Given the description of an element on the screen output the (x, y) to click on. 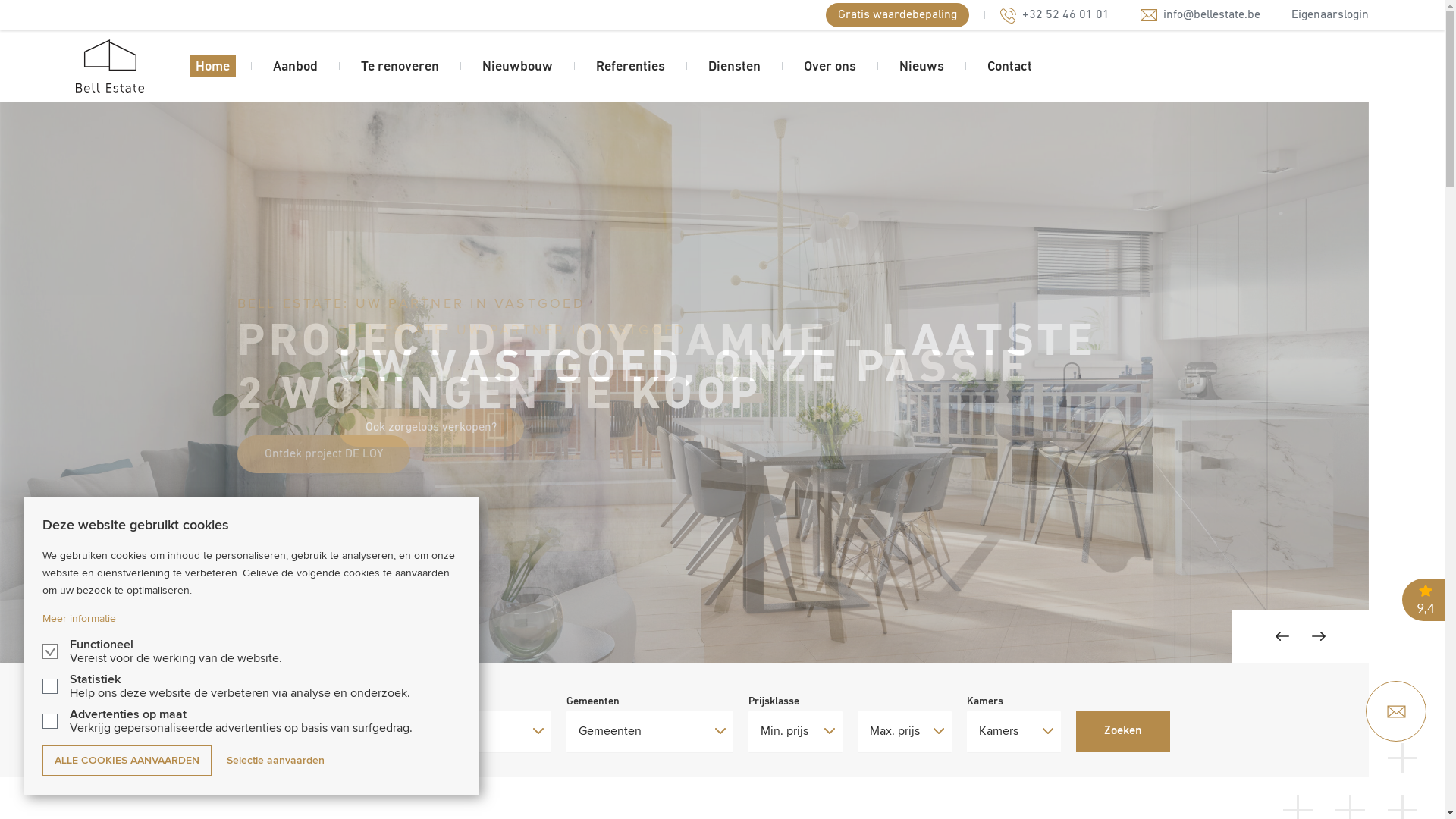
Aanbod Element type: text (294, 65)
Meer informatie Element type: text (79, 618)
ALLE COOKIES AANVAARDEN Element type: text (126, 760)
Nieuws Element type: text (921, 65)
Nieuwbouw Element type: text (517, 65)
Home Element type: text (212, 65)
Over ons Element type: text (829, 65)
Ontdek project DE LOY Element type: text (322, 454)
info@bellestate.be Element type: text (1200, 15)
Zoeken Element type: text (1122, 730)
Selectie aanvaarden Element type: text (275, 761)
Te renoveren Element type: text (399, 65)
Bell Estate Element type: text (109, 65)
Referenties Element type: text (630, 65)
Eigenaarslogin Element type: text (1329, 15)
Contact Element type: text (1009, 65)
Diensten Element type: text (734, 65)
Gratis waardebepaling Element type: text (897, 15)
+32 52 46 01 01 Element type: text (1054, 15)
Open float Element type: text (1395, 710)
